Given the description of an element on the screen output the (x, y) to click on. 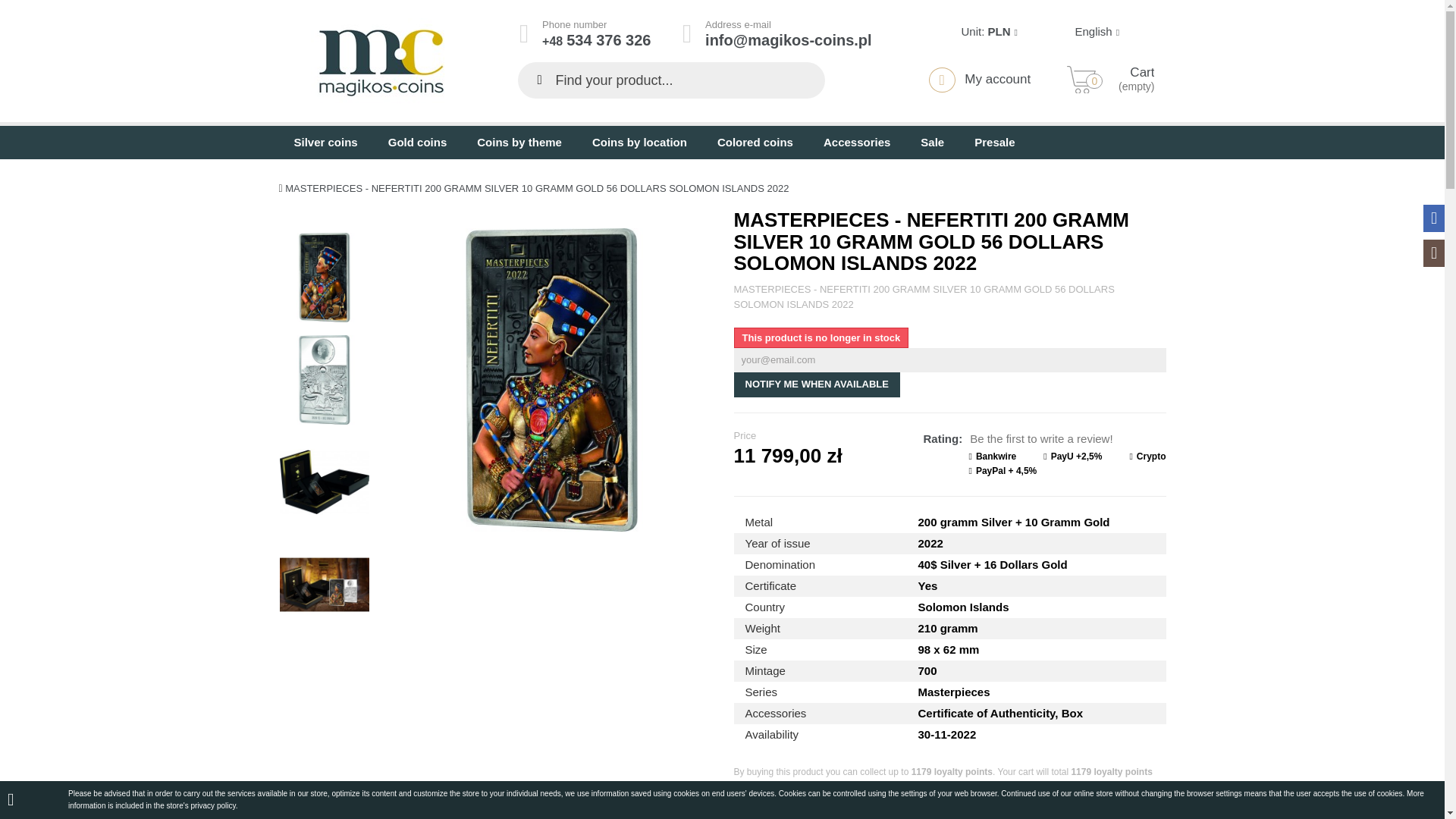
Coins by theme (518, 142)
Coins by location (638, 142)
Silver coins (325, 142)
My account (979, 79)
Coins by theme (518, 142)
Log in to your customer account (979, 79)
Magikos Coins (381, 62)
Silver coins (325, 142)
Gold coins (417, 142)
View my shopping cart (1133, 79)
